Given the description of an element on the screen output the (x, y) to click on. 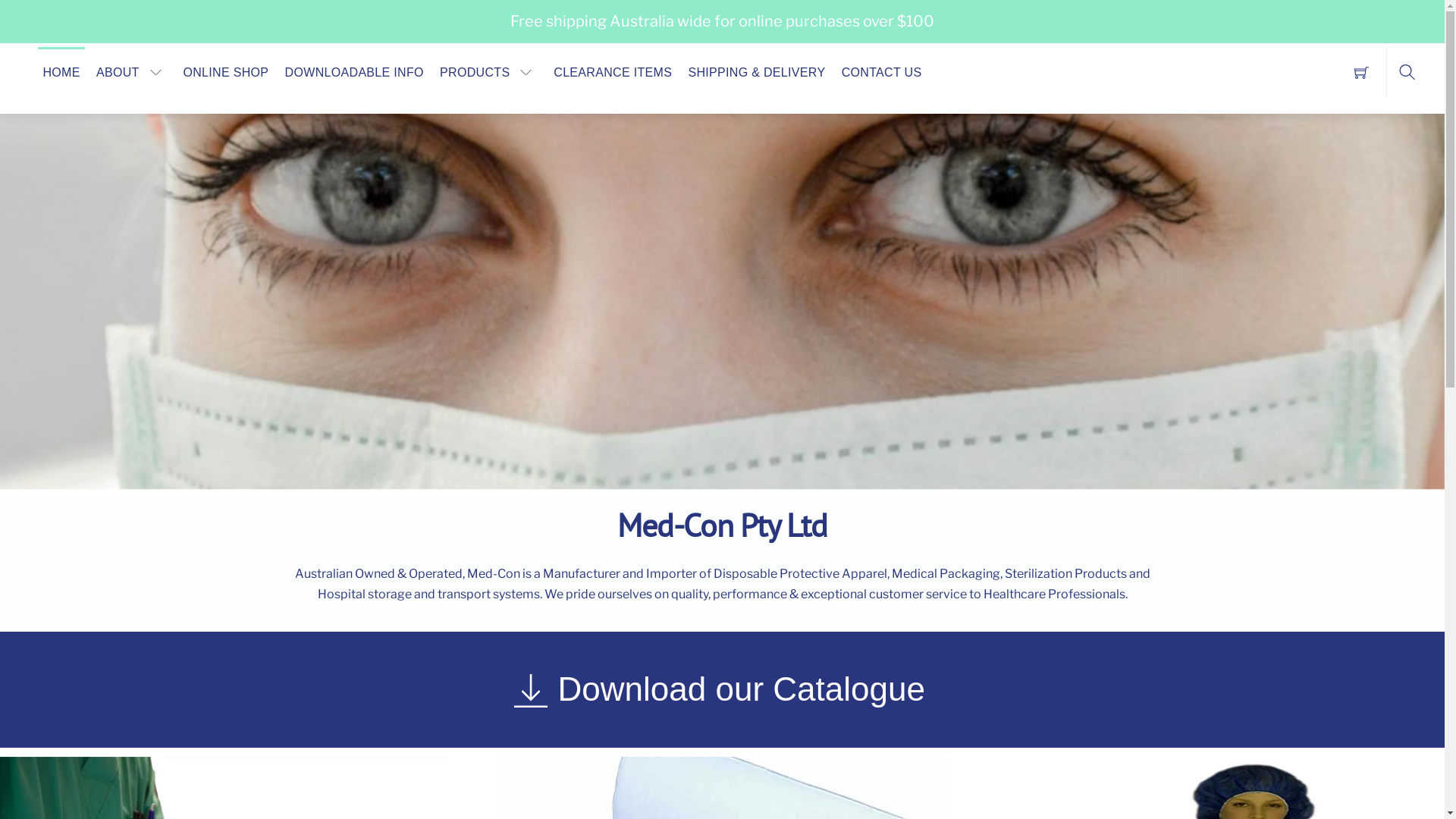
Download our Catalogue Element type: text (723, 689)
HOME Element type: text (60, 72)
CLEARANCE ITEMS Element type: text (613, 72)
PRODUCTS Element type: text (488, 72)
ONLINE SHOP Element type: text (225, 72)
CONTACT US Element type: text (881, 72)
DOWNLOADABLE INFO Element type: text (353, 72)
SHIPPING & DELIVERY Element type: text (756, 72)
ABOUT Element type: text (131, 72)
